Given the description of an element on the screen output the (x, y) to click on. 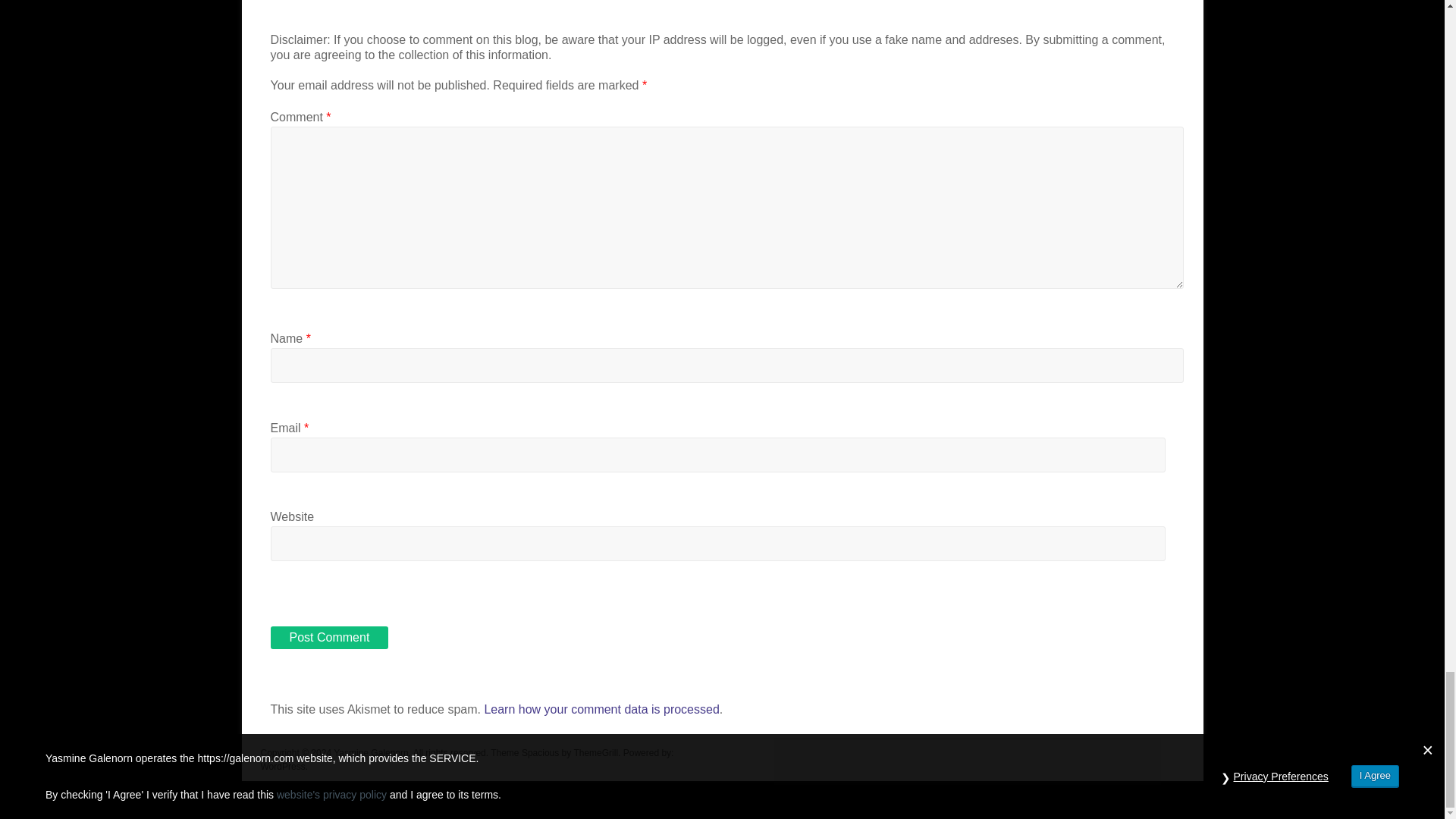
Post Comment (329, 637)
Yasmine Galenorn (371, 752)
Spacious (540, 752)
WordPress (282, 766)
